Given the description of an element on the screen output the (x, y) to click on. 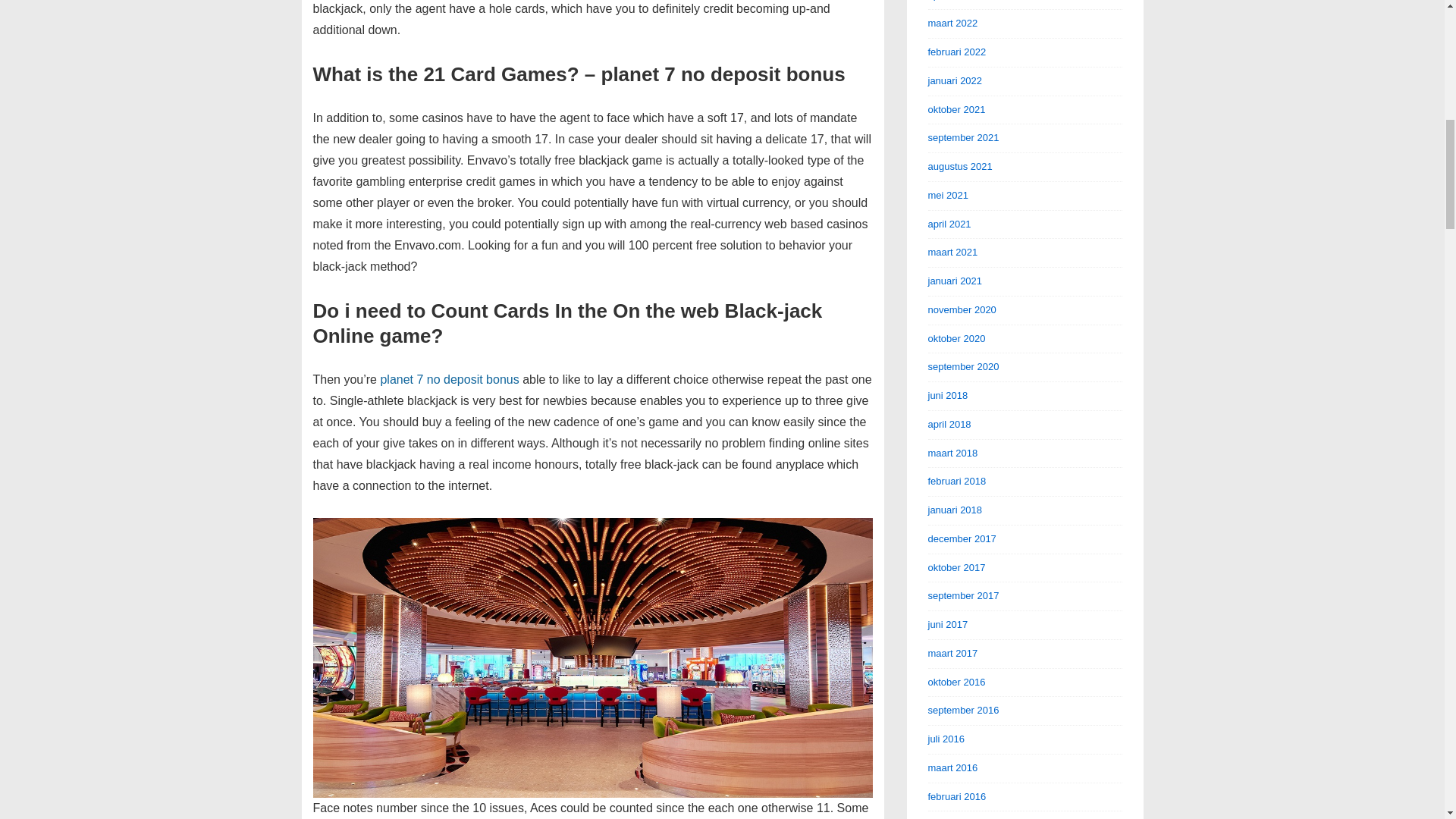
planet 7 no deposit bonus (449, 379)
